Given the description of an element on the screen output the (x, y) to click on. 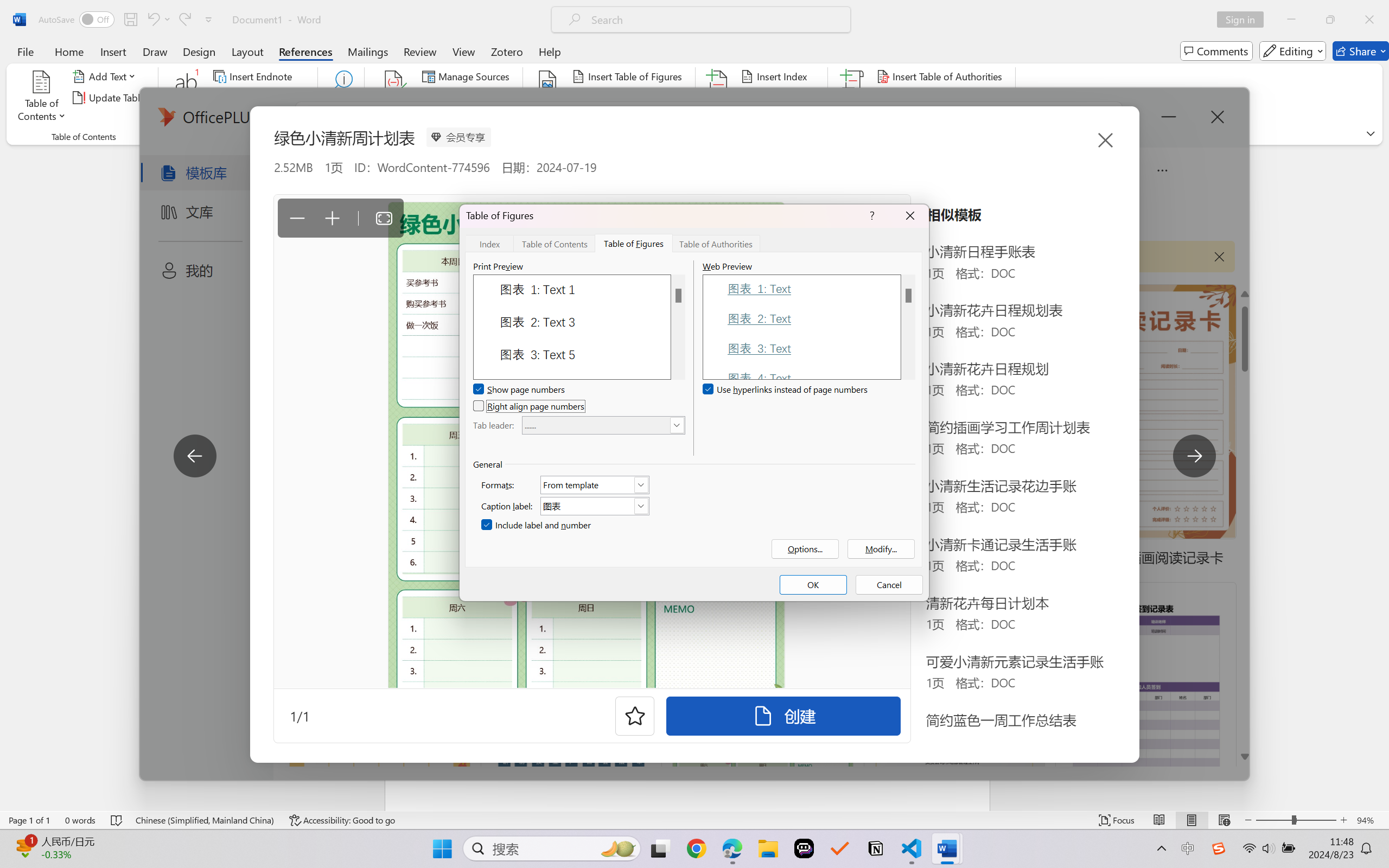
Tab leader: (603, 424)
Insert Footnote (186, 97)
Undo Apply Quick Style Set (158, 19)
Right align page numbers (529, 406)
Update Table... (110, 97)
Table of Contents (554, 243)
Show Notes (248, 118)
Bibliography (463, 118)
